Given the description of an element on the screen output the (x, y) to click on. 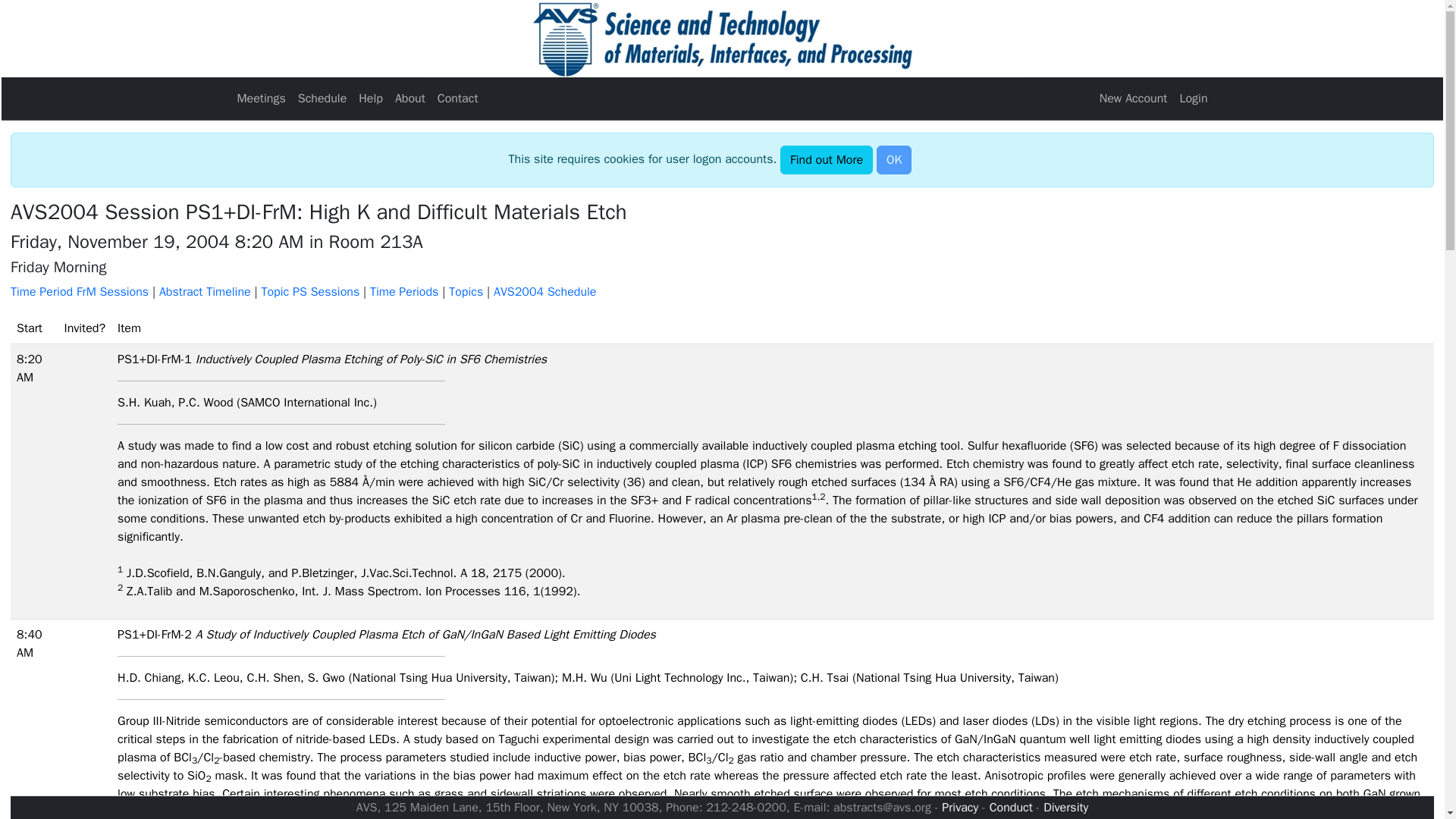
Conduct (1011, 807)
Meetings (260, 98)
New Account (1133, 98)
Topic PS Sessions (309, 291)
Find out More (826, 159)
AVS2004 Schedule (544, 291)
Privacy (960, 807)
Login (1192, 98)
About (409, 98)
Schedule (322, 98)
Abstract Timeline (204, 291)
Time Period FrM Sessions (81, 291)
Diversity (1065, 807)
Time Periods (403, 291)
OK (893, 159)
